Given the description of an element on the screen output the (x, y) to click on. 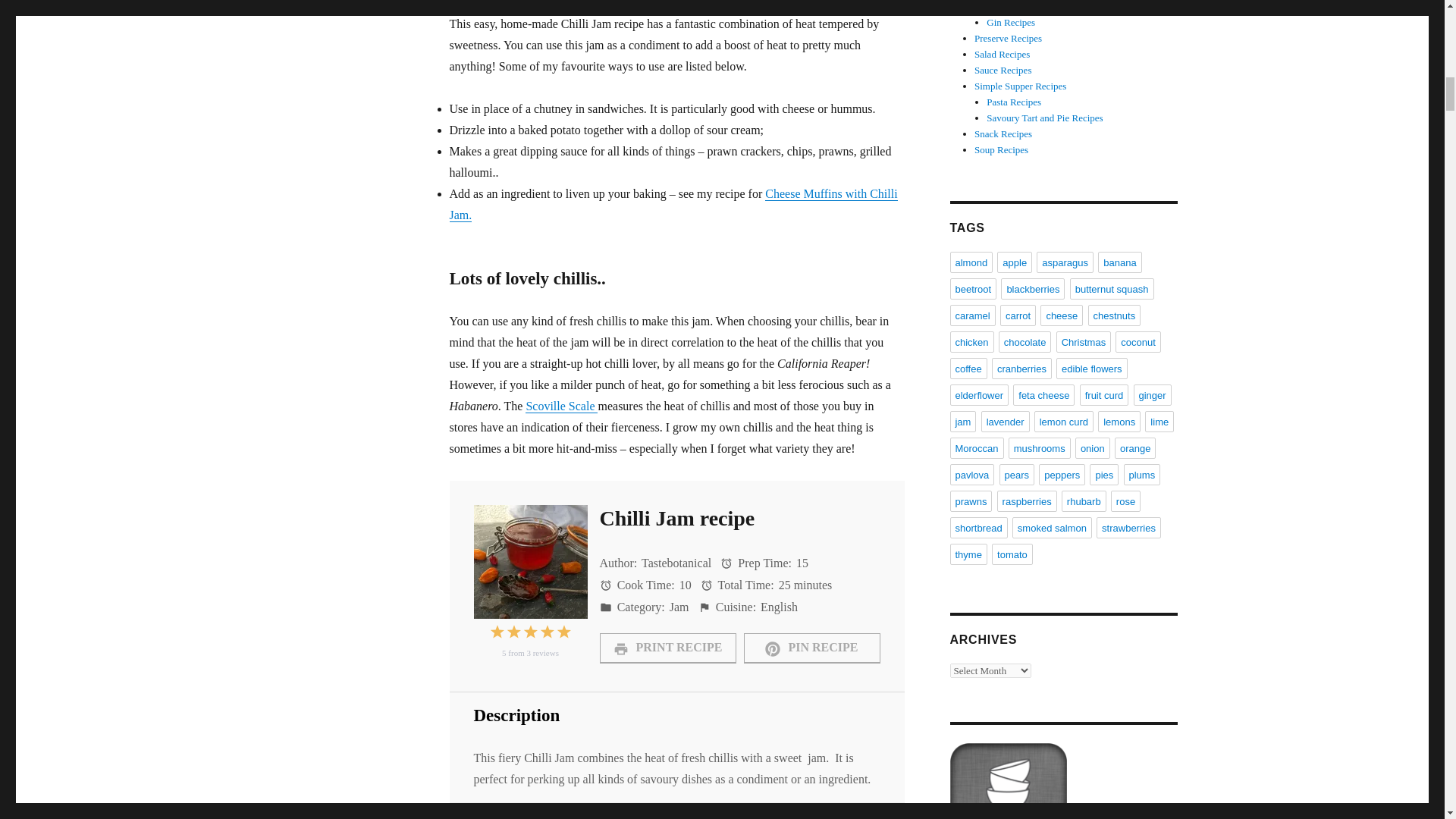
Cheese Muffins with Chilli Jam. (672, 204)
PRINT RECIPE (666, 647)
Scoville Scale (560, 405)
